Given the description of an element on the screen output the (x, y) to click on. 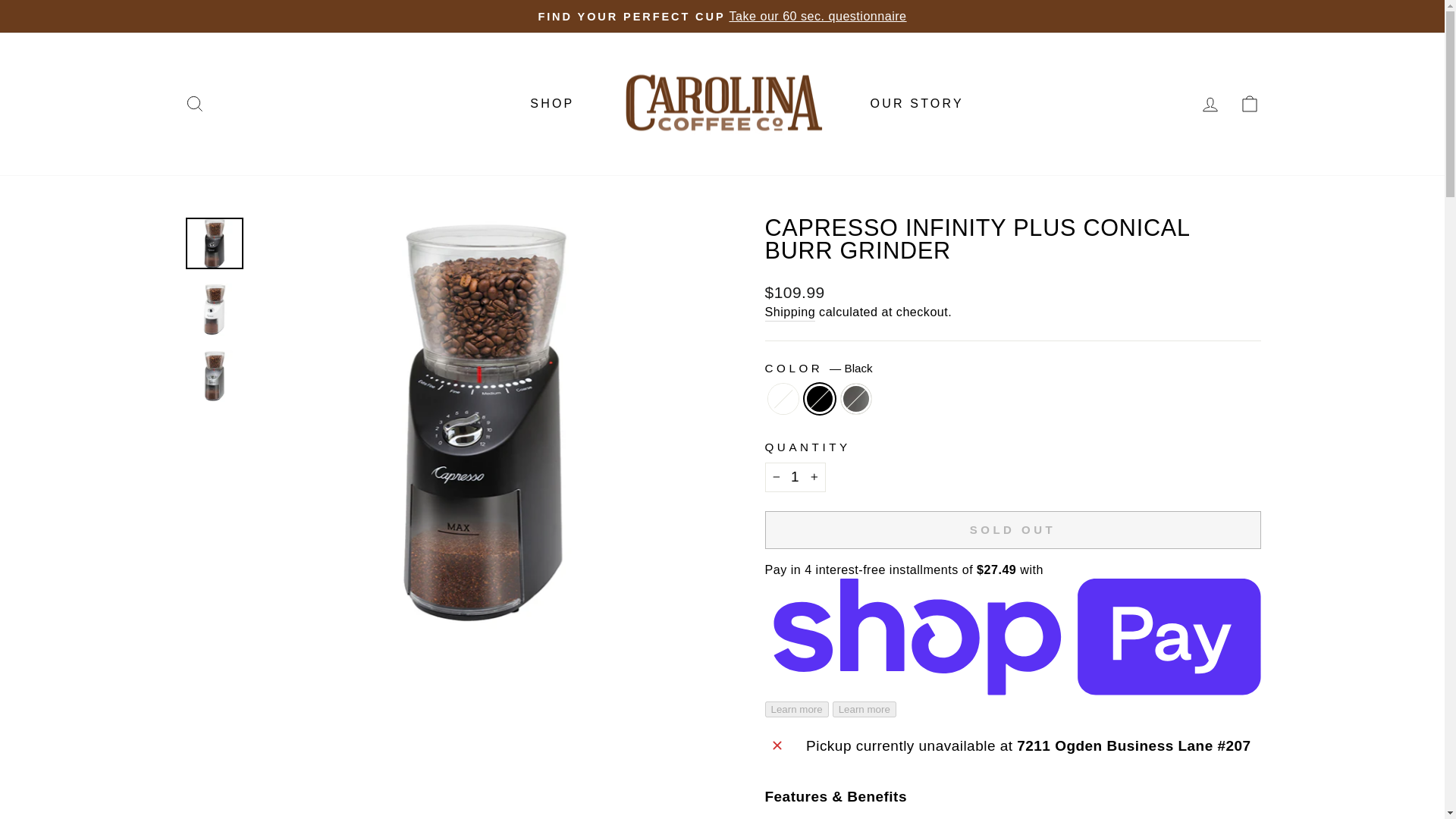
1 (794, 477)
FIND YOUR PERFECT CUPTake our 60 sec. questionnaire (722, 16)
